Given the description of an element on the screen output the (x, y) to click on. 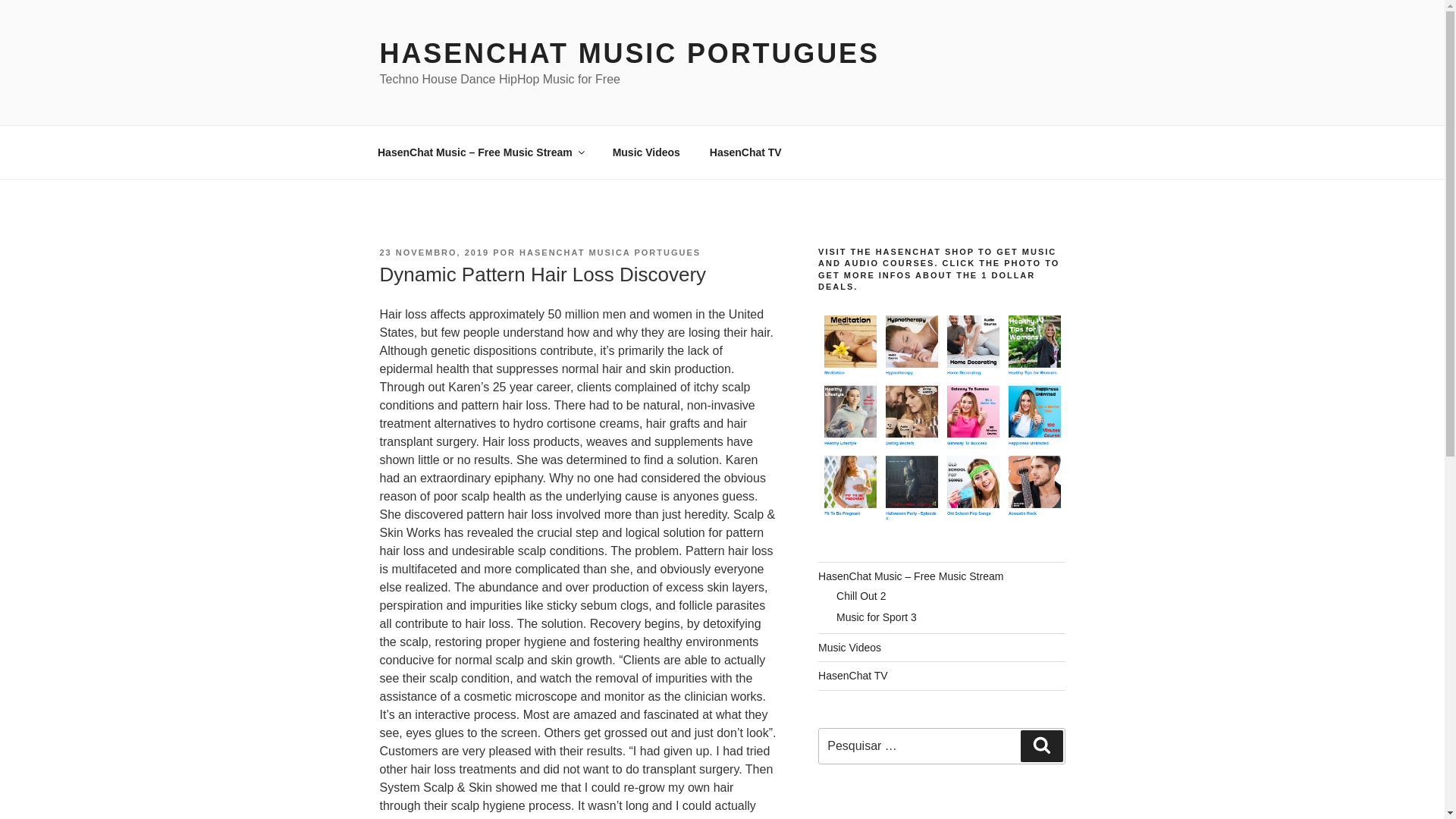
Music Videos (849, 647)
Music Videos (645, 151)
Pesquisar (1041, 746)
HasenChat TV (853, 675)
Chill Out 2 (860, 595)
HASENCHAT MUSIC PORTUGUES (628, 52)
HASENCHAT MUSICA PORTUGUES (609, 252)
Music for Sport 3 (876, 616)
23 NOVEMBRO, 2019 (433, 252)
HasenChat TV (744, 151)
